Given the description of an element on the screen output the (x, y) to click on. 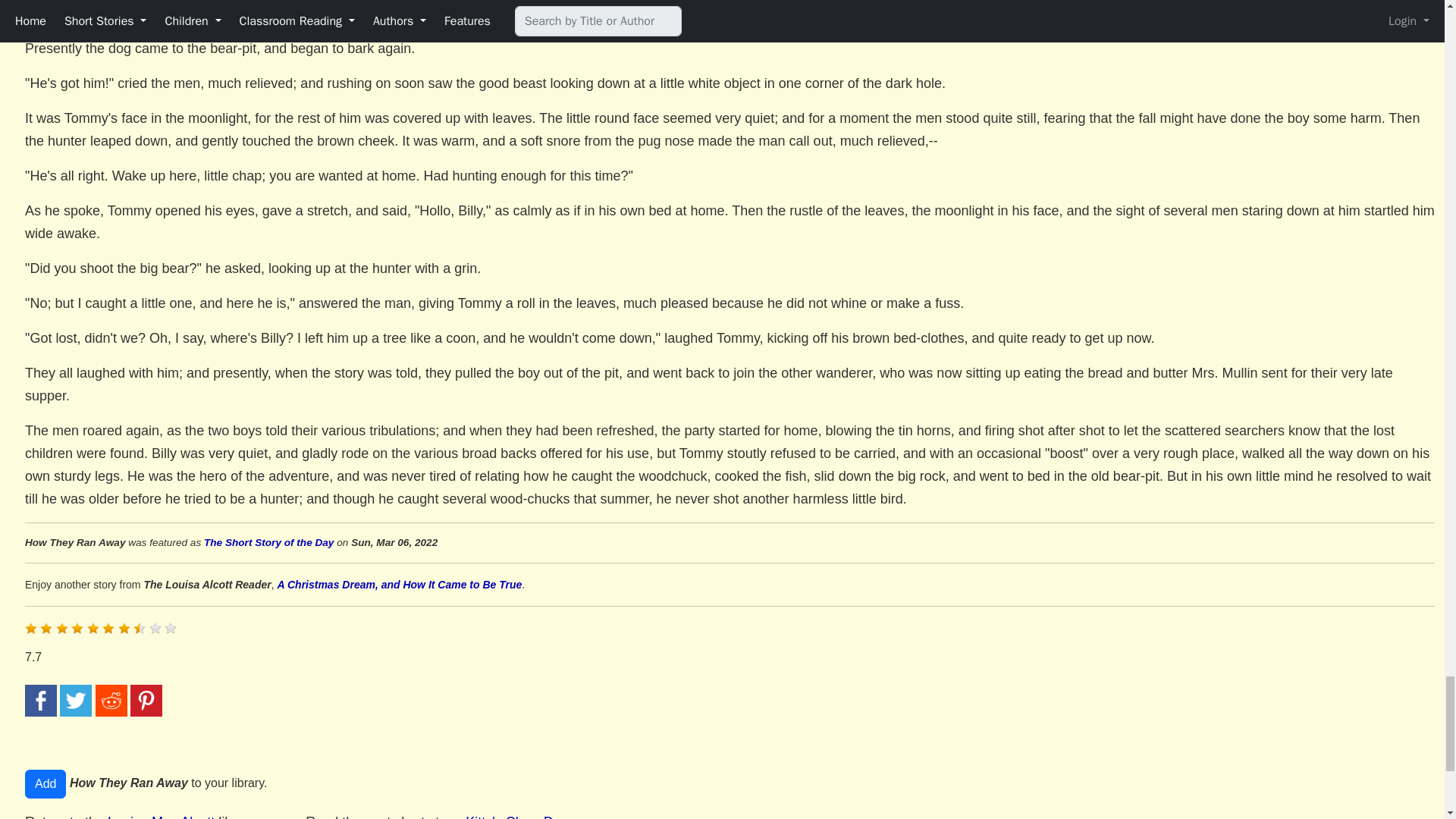
6 - Pretty Good - read it  (108, 628)
1 - Avoid  (30, 628)
8 - Very Good - Highly Recommended  (139, 628)
5 - Average - worth reading  (93, 628)
7 - Very Good - recommended  (124, 628)
10 - Absolutely Brilliant!  (170, 628)
9 - Loved it!  (155, 628)
4 - Okay  (76, 628)
2 - Don't Read  (46, 628)
3 - Nothing Special  (62, 628)
